Given the description of an element on the screen output the (x, y) to click on. 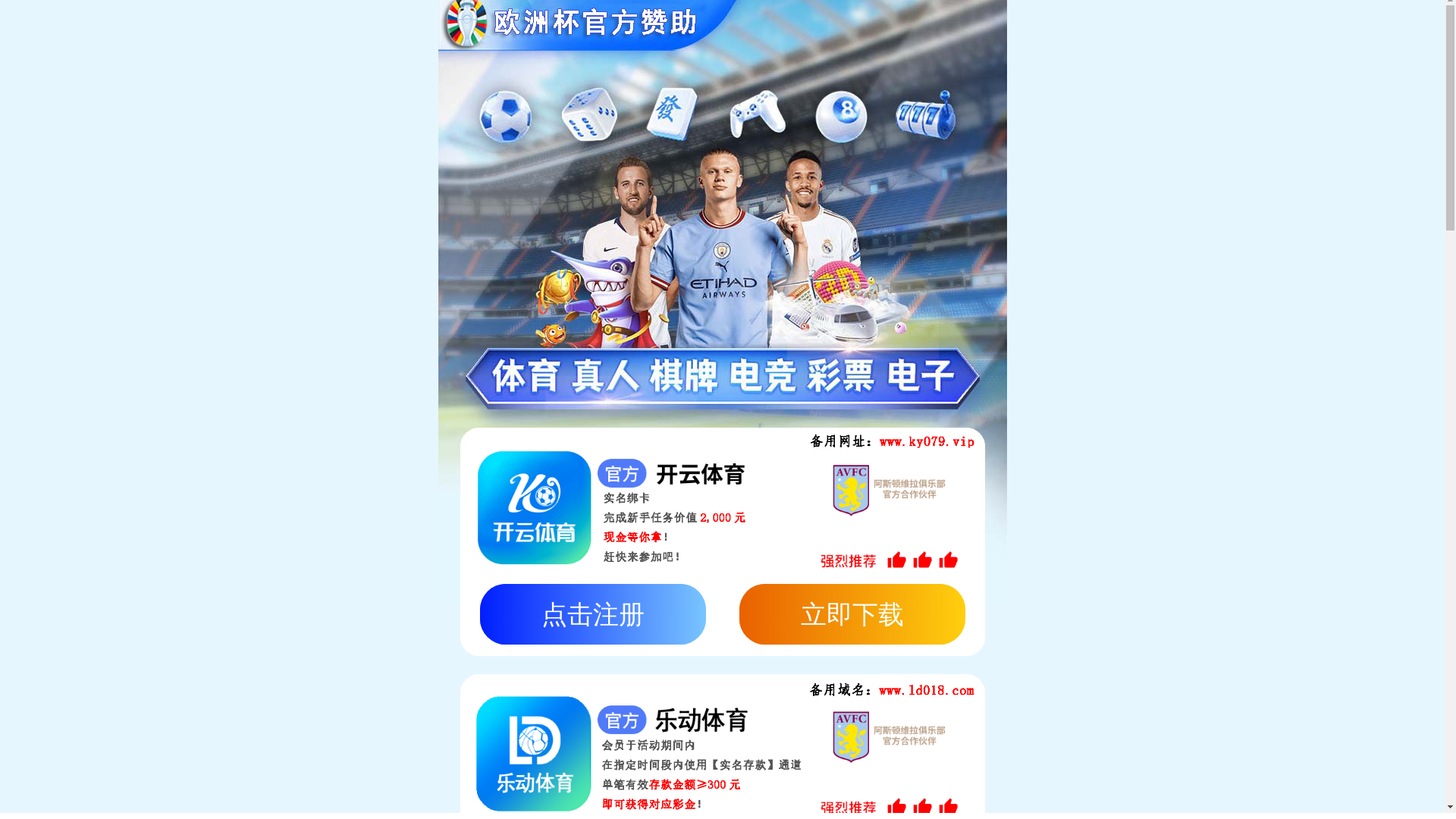
Robot transmission technology (487, 335)
CN (1400, 24)
Marketing (916, 27)
Institute (779, 27)
Contact Us (1189, 27)
About (507, 27)
Solar energy transmission technology (280, 335)
News (1053, 27)
TOP (1201, 333)
Mechanical mixing equipment technology (702, 334)
